Given the description of an element on the screen output the (x, y) to click on. 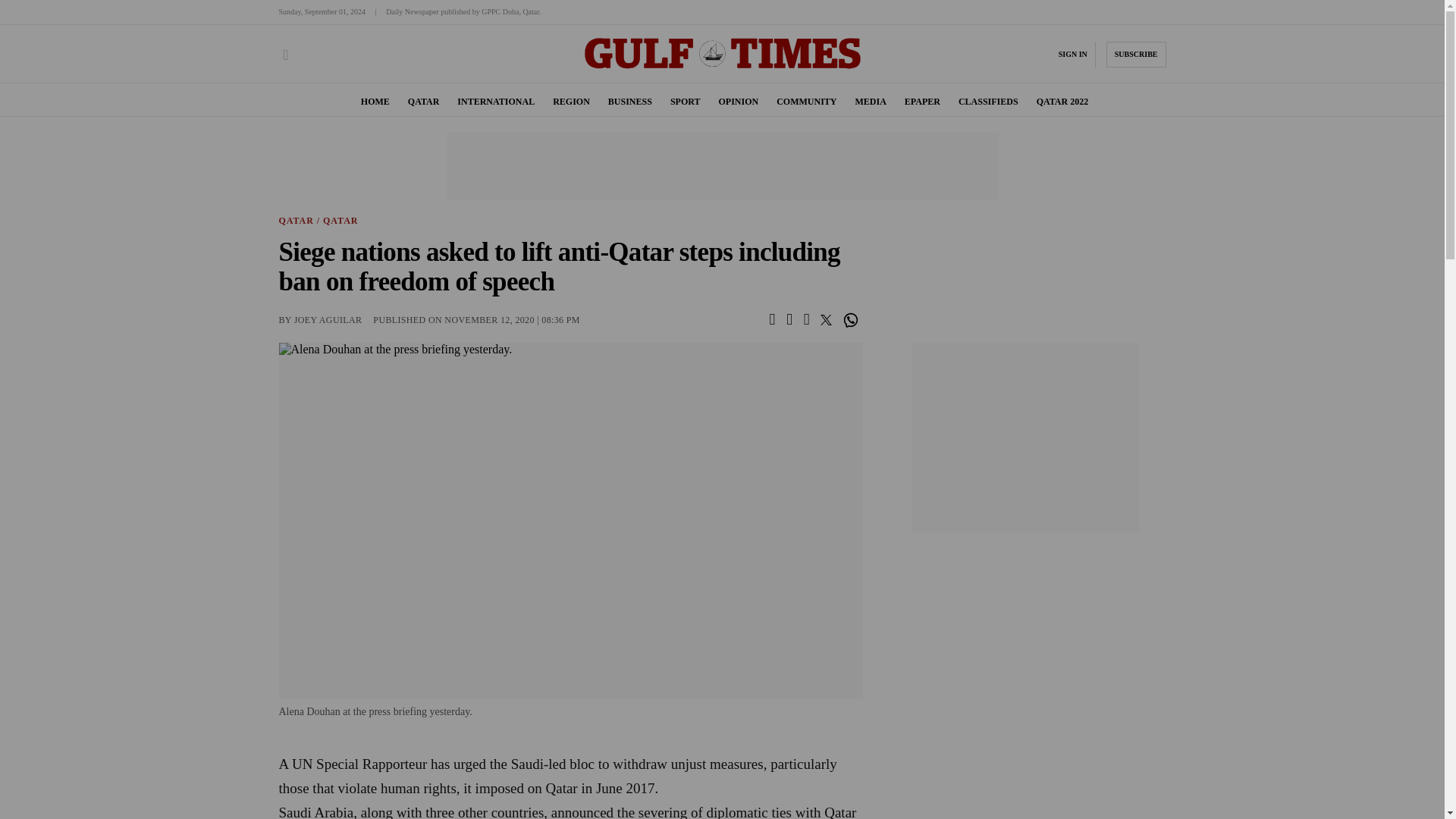
twitter share (825, 318)
CLASSIFIEDS (987, 101)
OPINION (737, 101)
whatsapp share (852, 319)
CLASSIFIEDS (987, 101)
COMMUNITY (805, 101)
Qatar (296, 220)
Sign In (1072, 53)
REGION (571, 101)
HOME (375, 101)
